Given the description of an element on the screen output the (x, y) to click on. 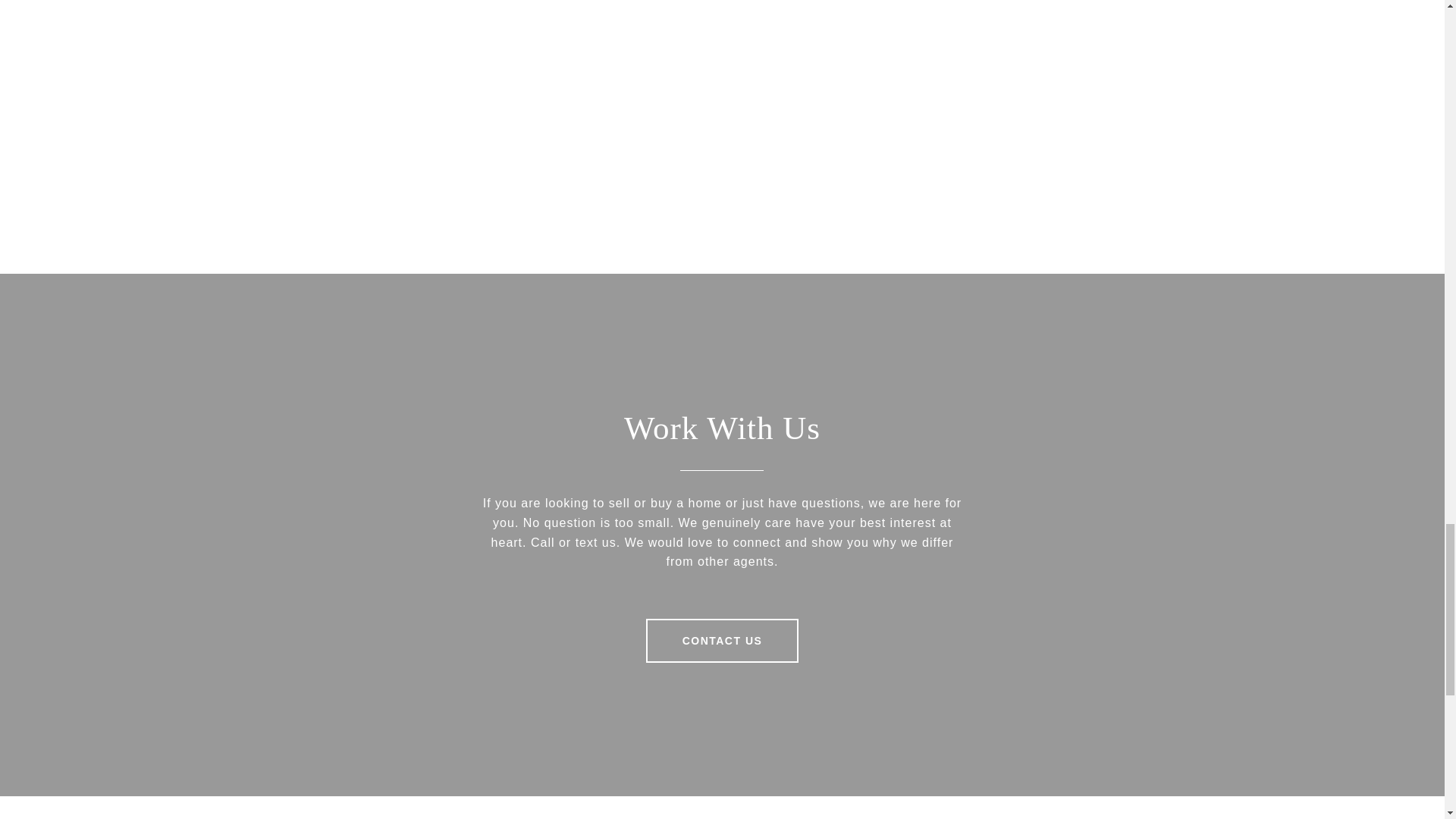
CONTACT US (722, 640)
